Given the description of an element on the screen output the (x, y) to click on. 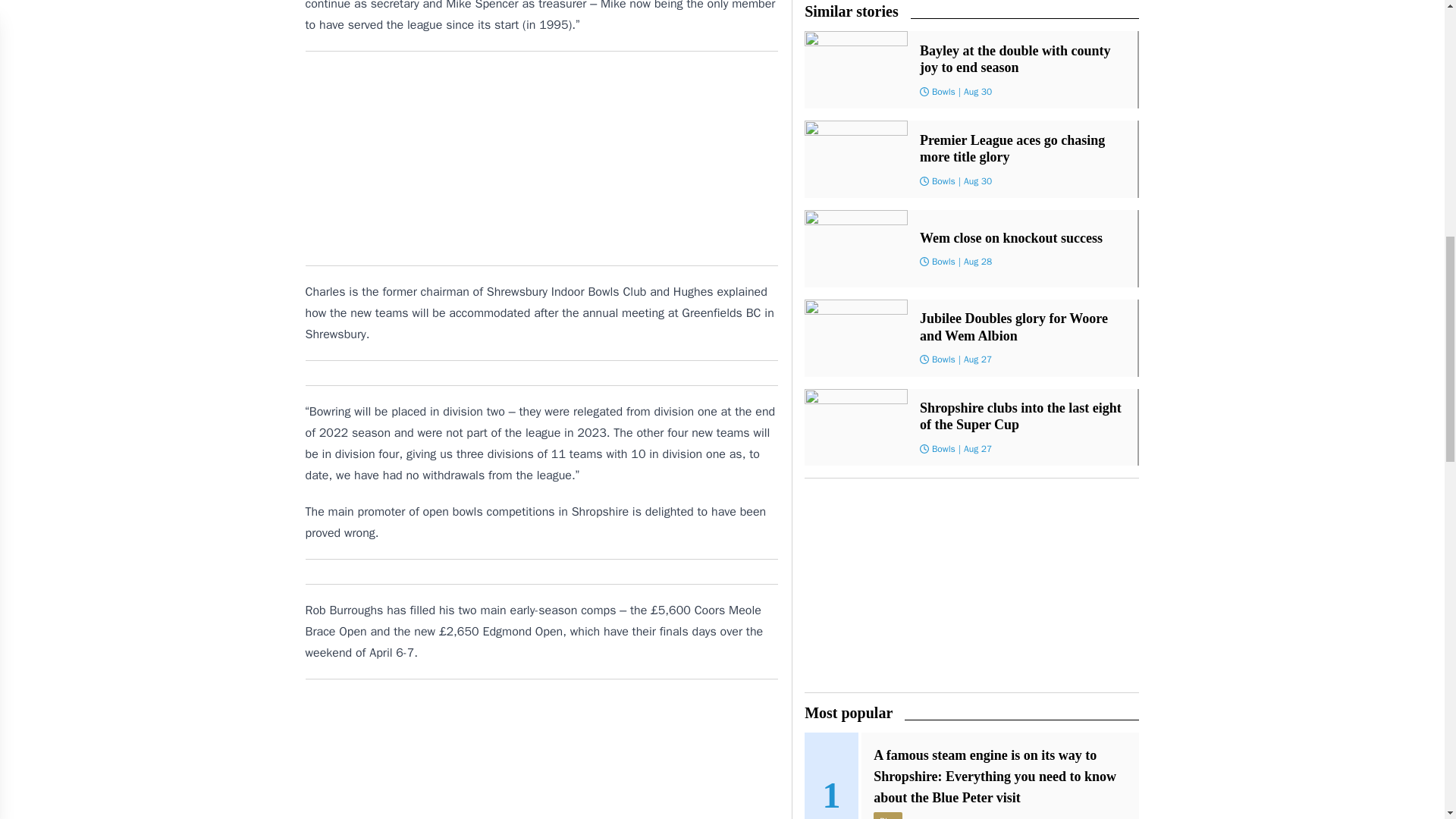
Bowls (943, 91)
Bowls (943, 449)
Bowls (943, 358)
Bowls (943, 181)
Bowls (943, 261)
